Given the description of an element on the screen output the (x, y) to click on. 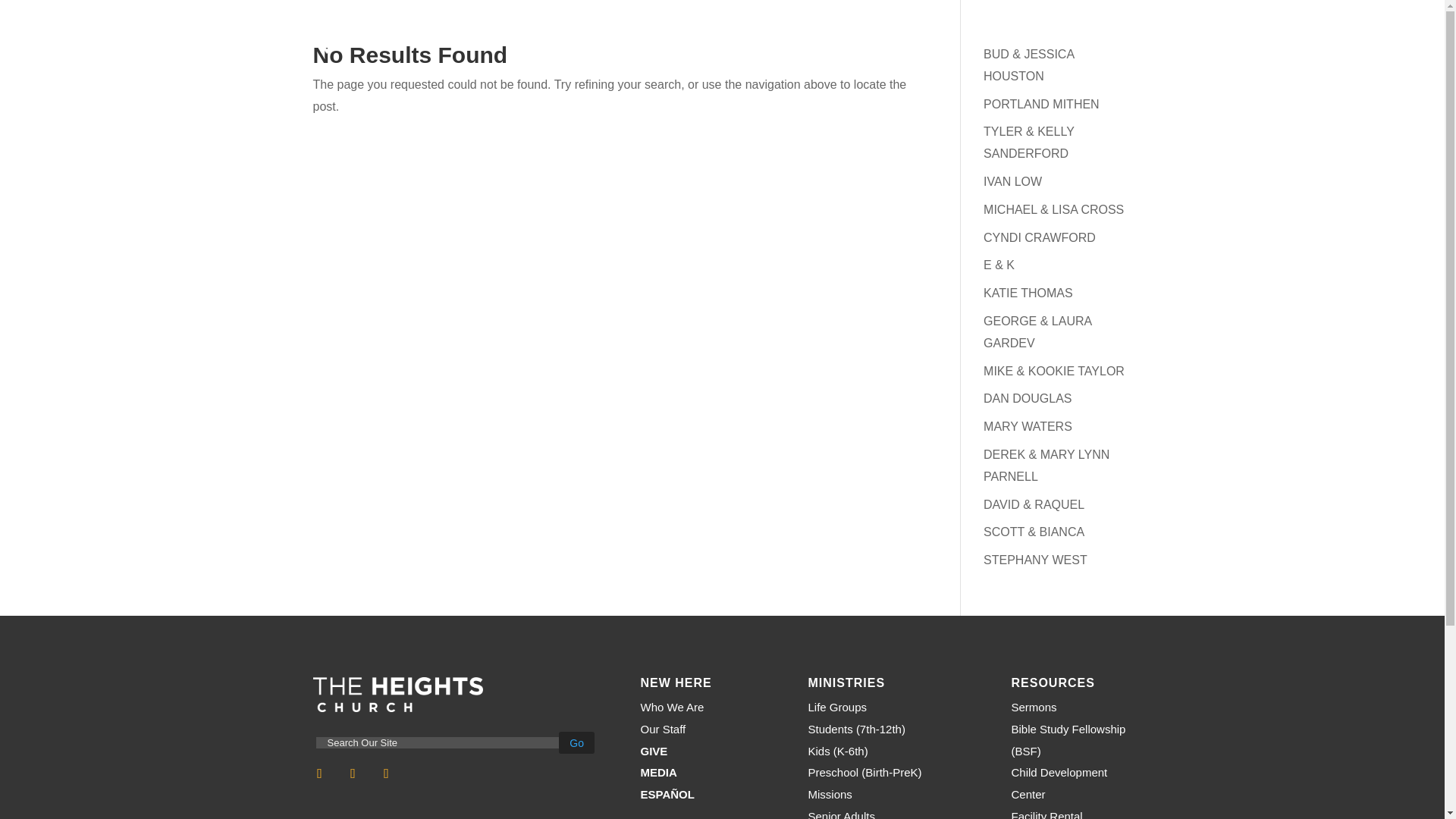
Follow on Youtube (386, 773)
Follow on Facebook (319, 773)
TheHeights-Logo-LeftWordmark-White (398, 694)
Follow on Instagram (352, 773)
